Given the description of an element on the screen output the (x, y) to click on. 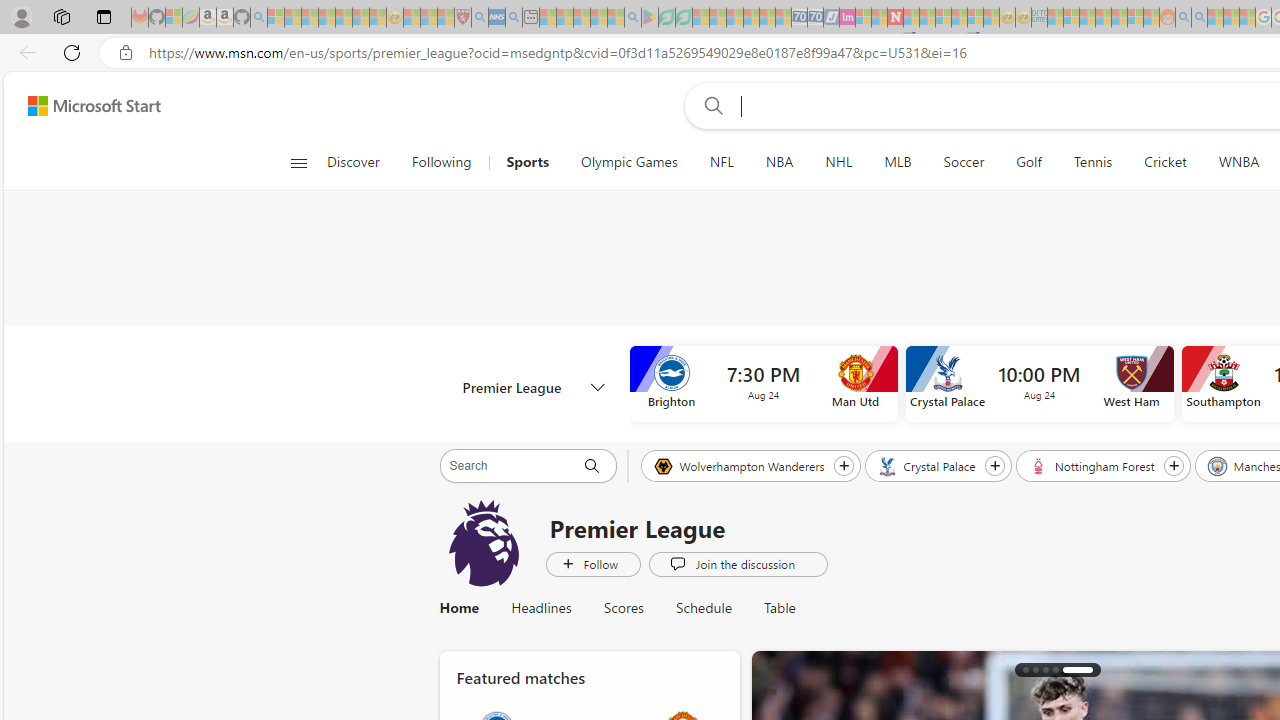
WNBA (1238, 162)
Schedule (704, 607)
Follow Nottingham Forest (1173, 465)
Table (771, 607)
Golf (1028, 162)
Headlines (541, 607)
Olympic Games (628, 162)
Join the discussion (737, 563)
Premier League (484, 543)
